Given the description of an element on the screen output the (x, y) to click on. 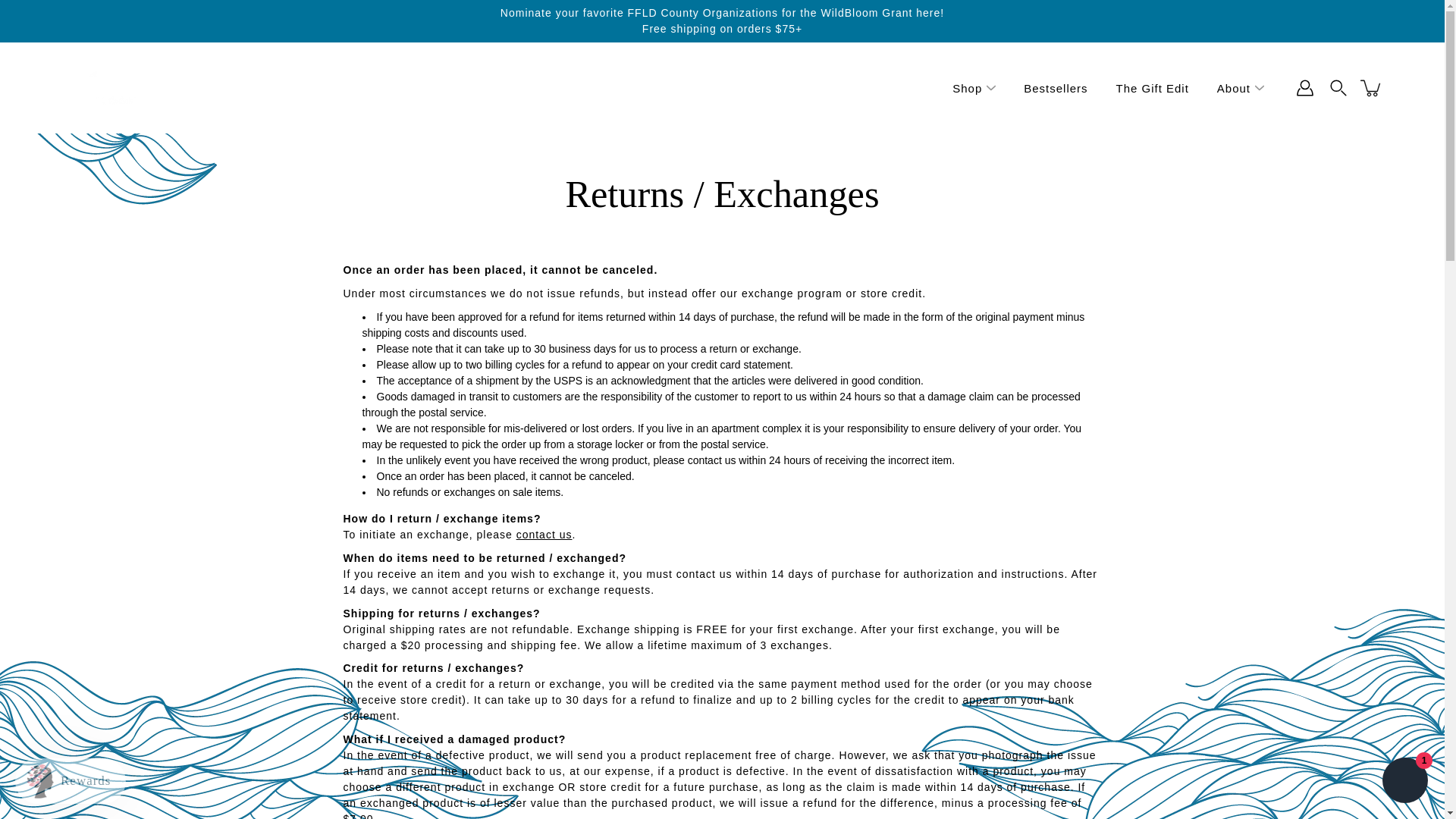
Bestsellers (1055, 87)
About (1233, 87)
Shop (966, 87)
The Gift Edit (1152, 87)
